Given the description of an element on the screen output the (x, y) to click on. 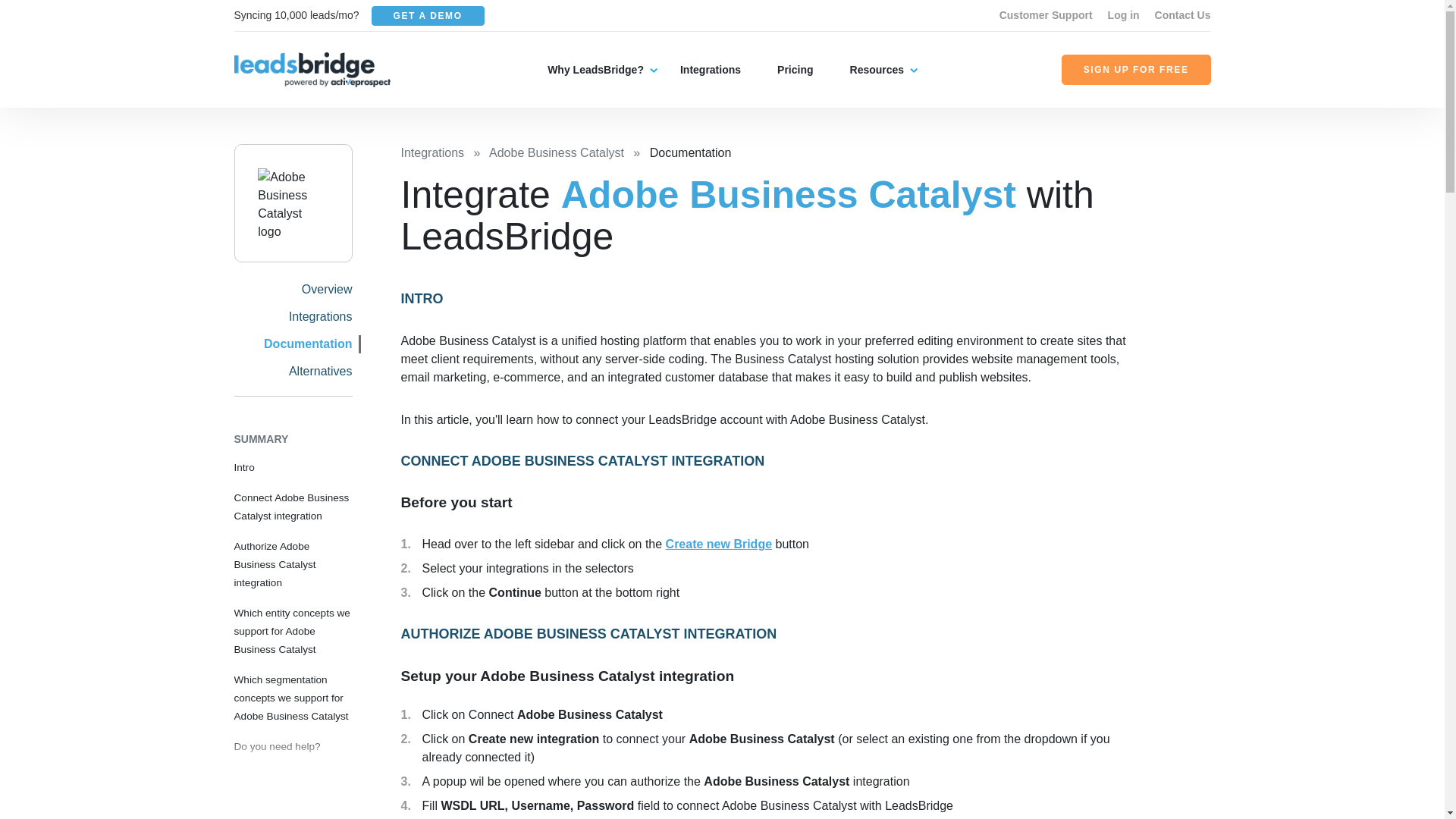
Intro (242, 467)
Alternatives (320, 370)
Customer Support (1045, 15)
Pricing (794, 69)
Why LeadsBridge? (595, 69)
Documentation (307, 343)
Customer Support (1045, 15)
Resources (877, 69)
Integrations (710, 69)
Pricing (794, 69)
Resources (877, 69)
Integrations (710, 69)
Log in (1124, 15)
Why LeadsBridge? (595, 69)
Integrations (320, 316)
